Given the description of an element on the screen output the (x, y) to click on. 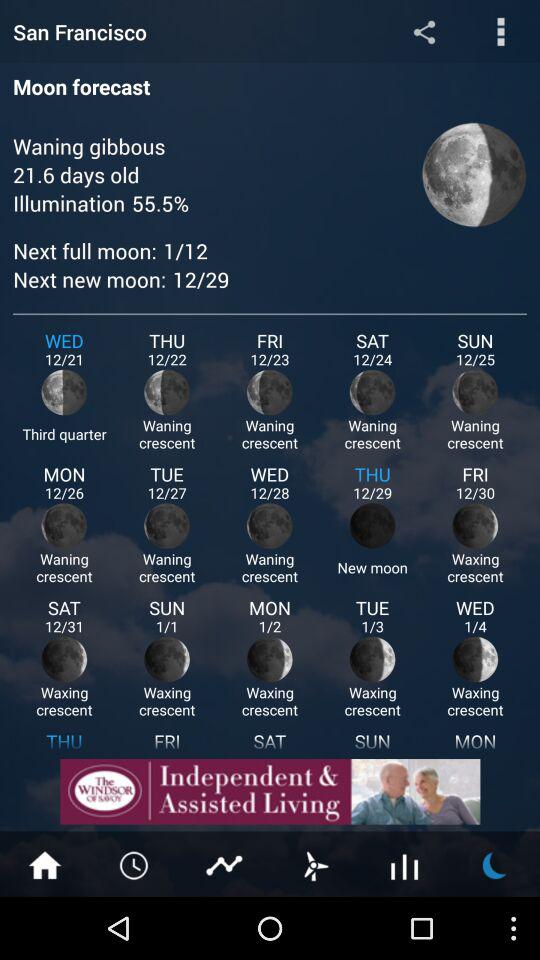
share data (424, 31)
